Given the description of an element on the screen output the (x, y) to click on. 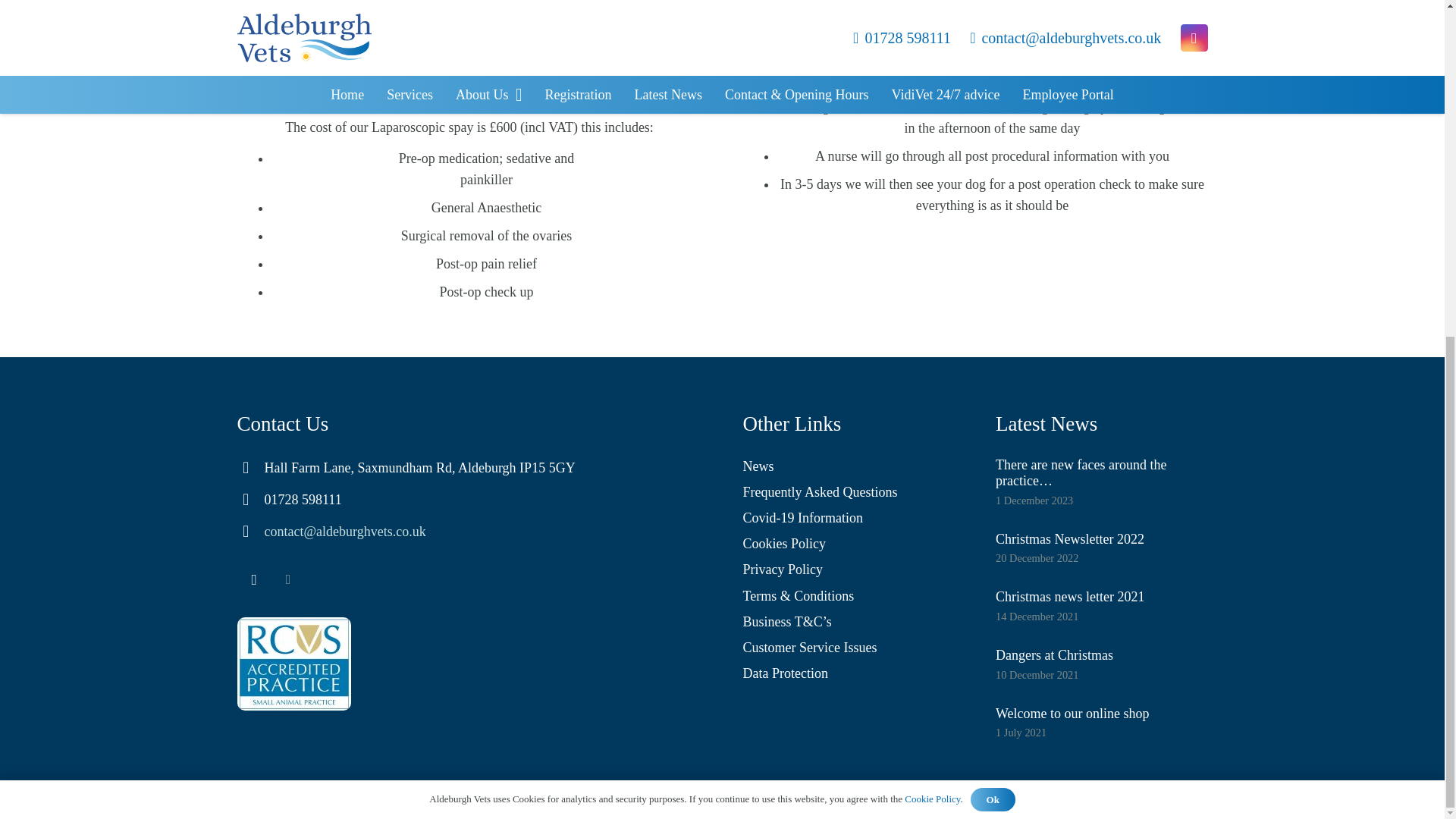
Data Protection (785, 672)
Christmas news letter 2021 (1069, 596)
Cookies Policy (784, 543)
Welcome to our online shop (1072, 713)
Dangers at Christmas (1054, 654)
Customer Service Issues (809, 647)
Email (287, 579)
Instagram (252, 579)
News (758, 466)
Covid-19 Information (802, 517)
